Given the description of an element on the screen output the (x, y) to click on. 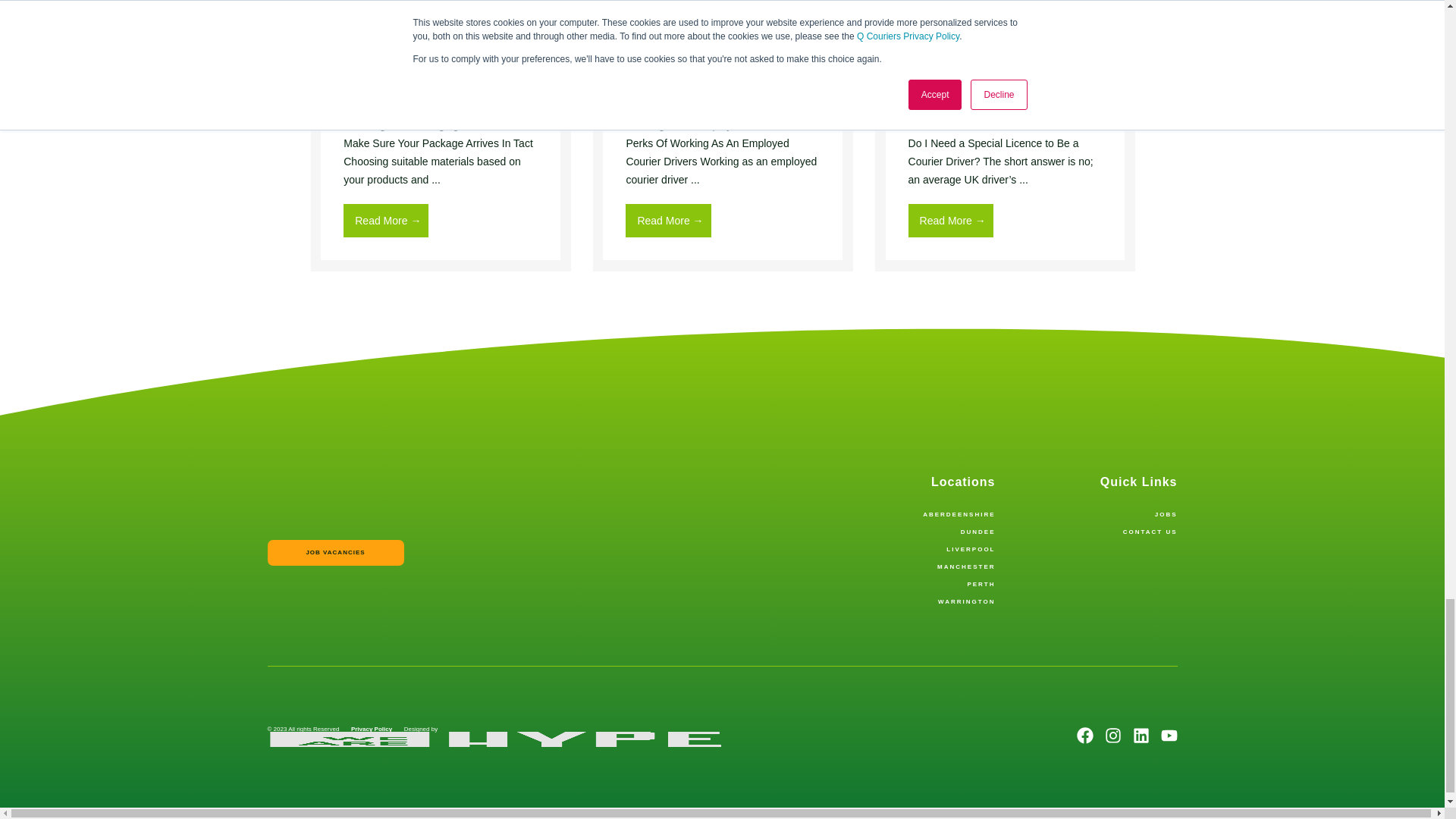
How To Wrap a Parcel For Delivery (440, 55)
Working as an Employed Courier Driver (722, 55)
Do I need a special license to be a courier driver? (1005, 55)
Fleet Management Software of 2024 9 (722, 29)
Fleet Management Software of 2024 8 (440, 29)
Fleet Management Software of 2024 10 (1005, 29)
